Given the description of an element on the screen output the (x, y) to click on. 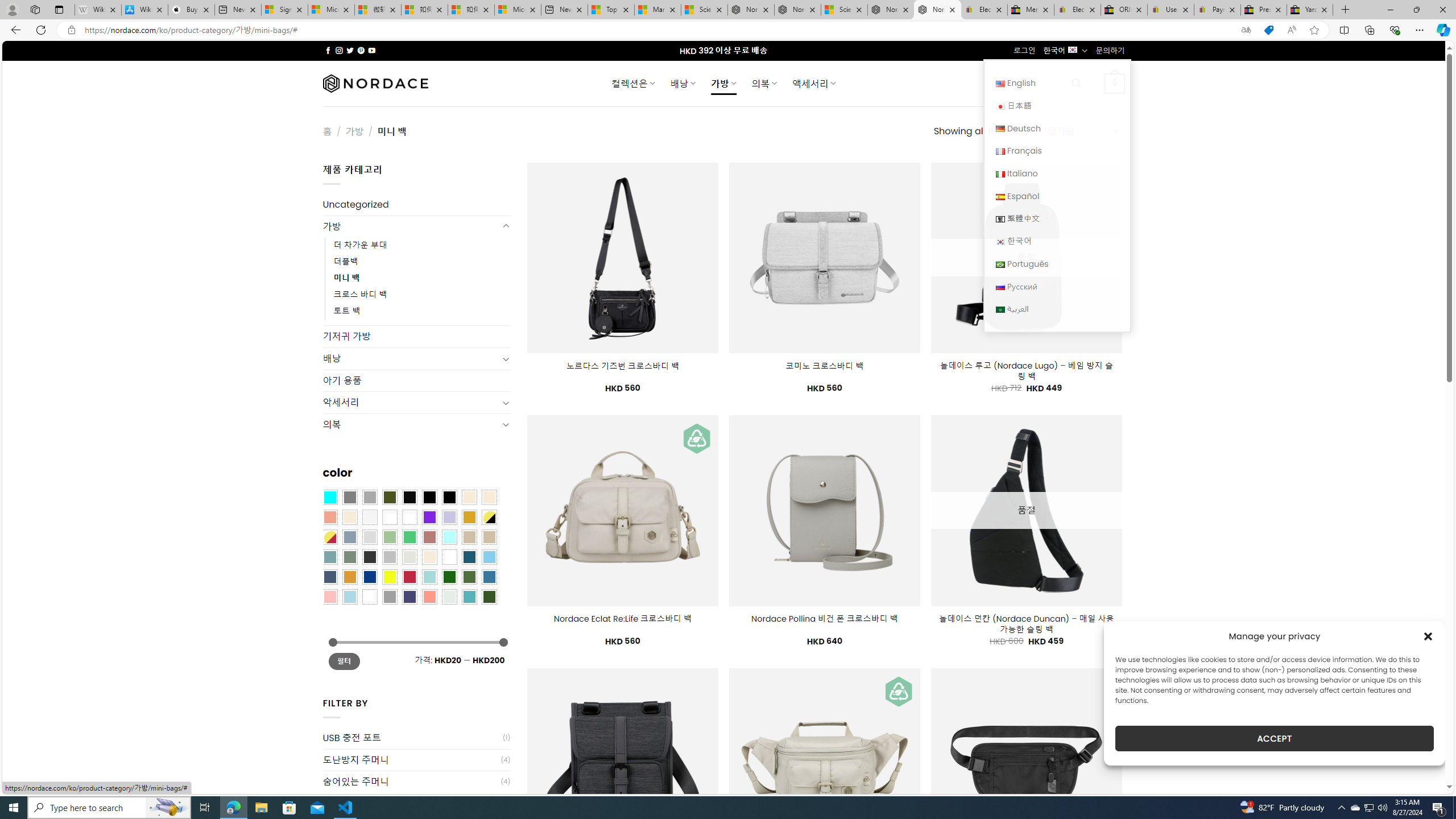
Follow on YouTube (371, 50)
